Given the description of an element on the screen output the (x, y) to click on. 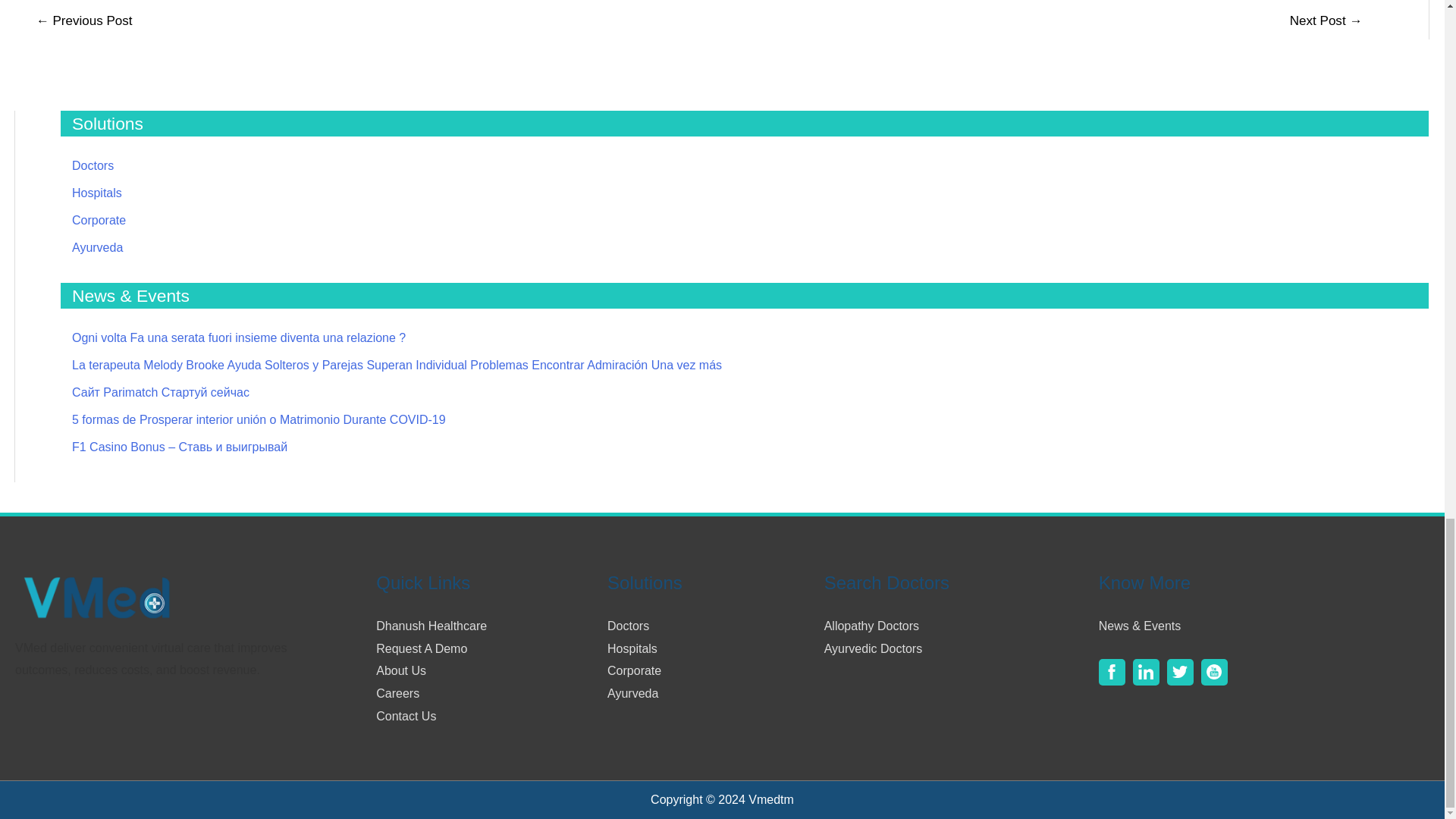
Dhanush Healthcare (430, 625)
Careers (397, 693)
Ayurveda (96, 246)
Allopathy Doctors (871, 625)
Corporate (634, 670)
Contact Us (405, 716)
Request A Demo (421, 648)
About Us (400, 670)
Ayurvedic Doctors (873, 648)
